Given the description of an element on the screen output the (x, y) to click on. 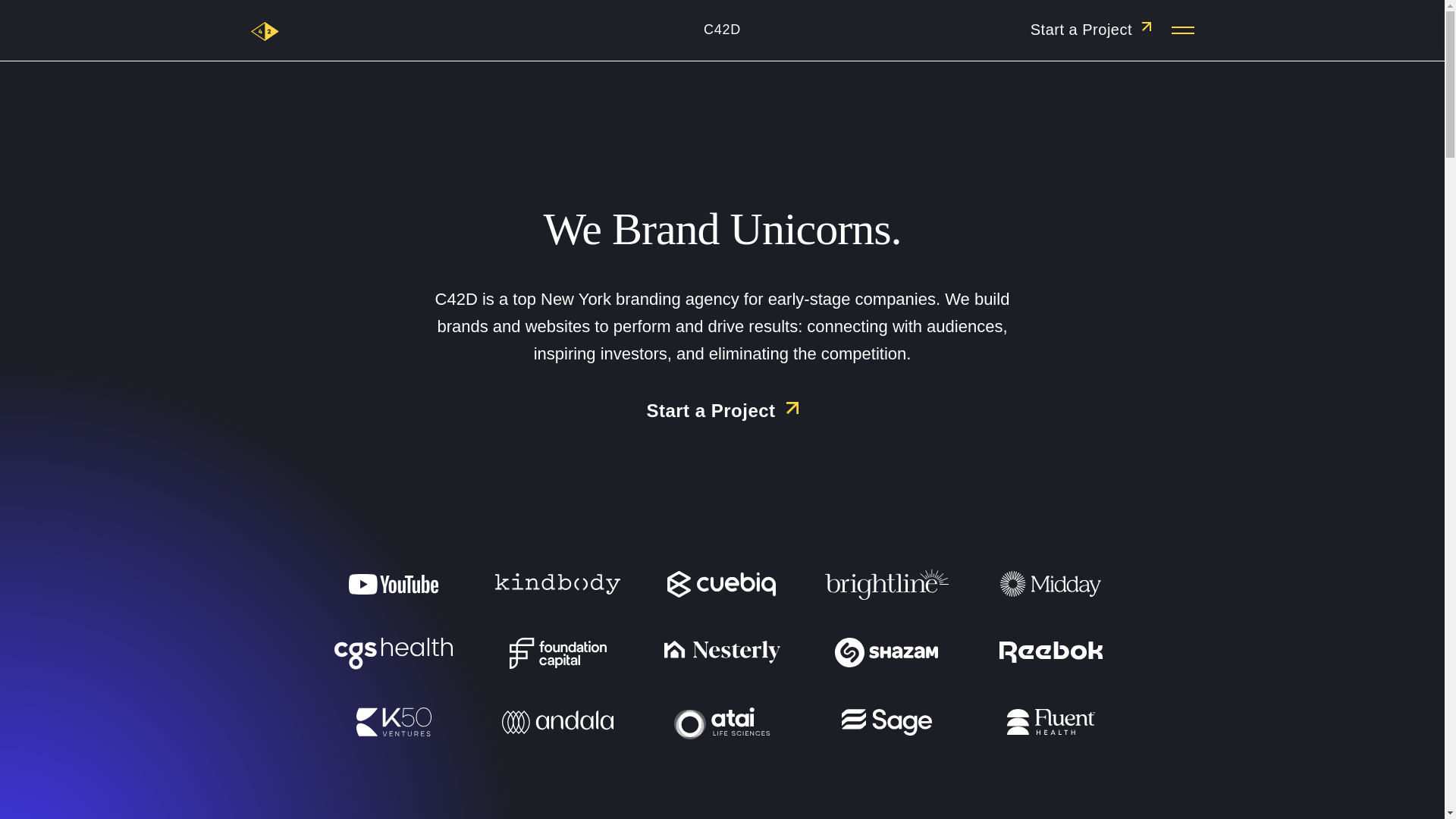
Menu (1179, 30)
Start a Project (1090, 29)
Start a Project (721, 411)
Main Logo (264, 29)
